Given the description of an element on the screen output the (x, y) to click on. 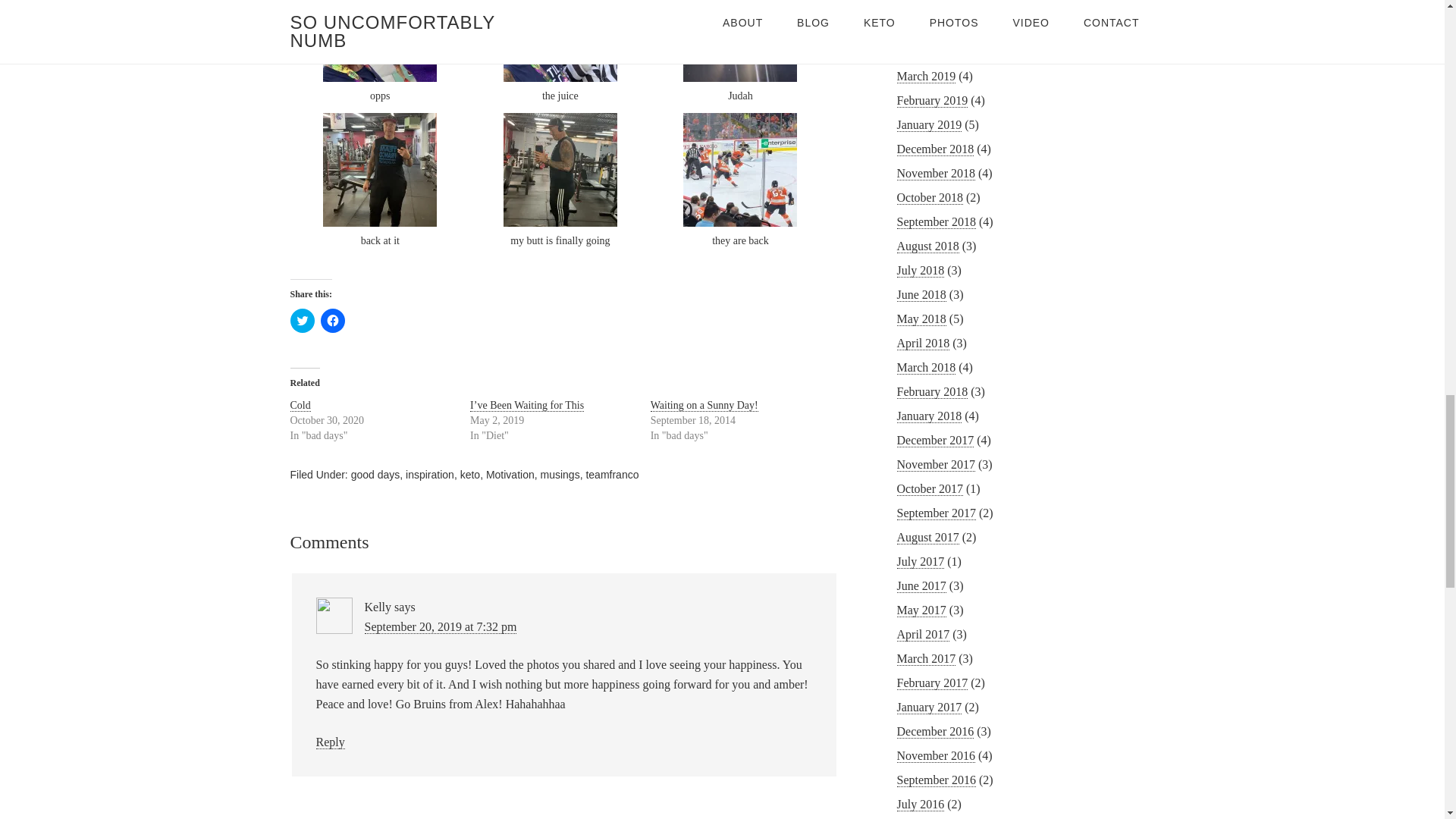
musings (559, 474)
keto (470, 474)
Reply (329, 742)
Click to share on Twitter (301, 320)
Cold (299, 405)
teamfranco (612, 474)
Waiting on a Sunny Day! (704, 405)
Cold (299, 405)
good days (375, 474)
Motivation (510, 474)
September 20, 2019 at 7:32 pm (440, 626)
Click to share on Facebook (331, 320)
inspiration (430, 474)
Waiting on a Sunny Day! (704, 405)
